Given the description of an element on the screen output the (x, y) to click on. 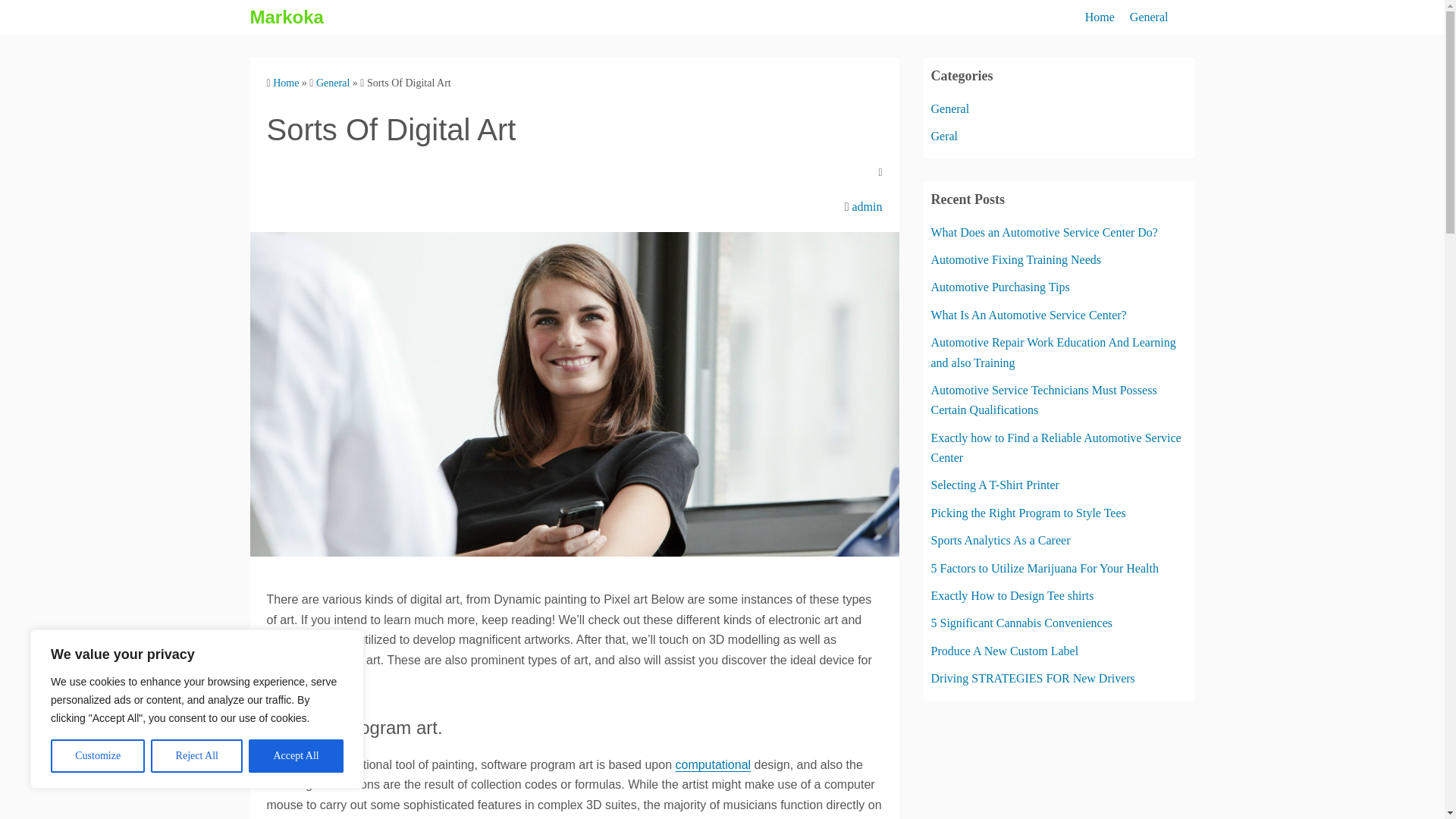
admin (866, 205)
Automotive Fixing Training Needs (1015, 259)
Markoka (286, 16)
What Does an Automotive Service Center Do? (1044, 232)
Reject All (197, 756)
Geral (944, 135)
Accept All (295, 756)
Customize (97, 756)
General (1149, 17)
General (950, 108)
